Given the description of an element on the screen output the (x, y) to click on. 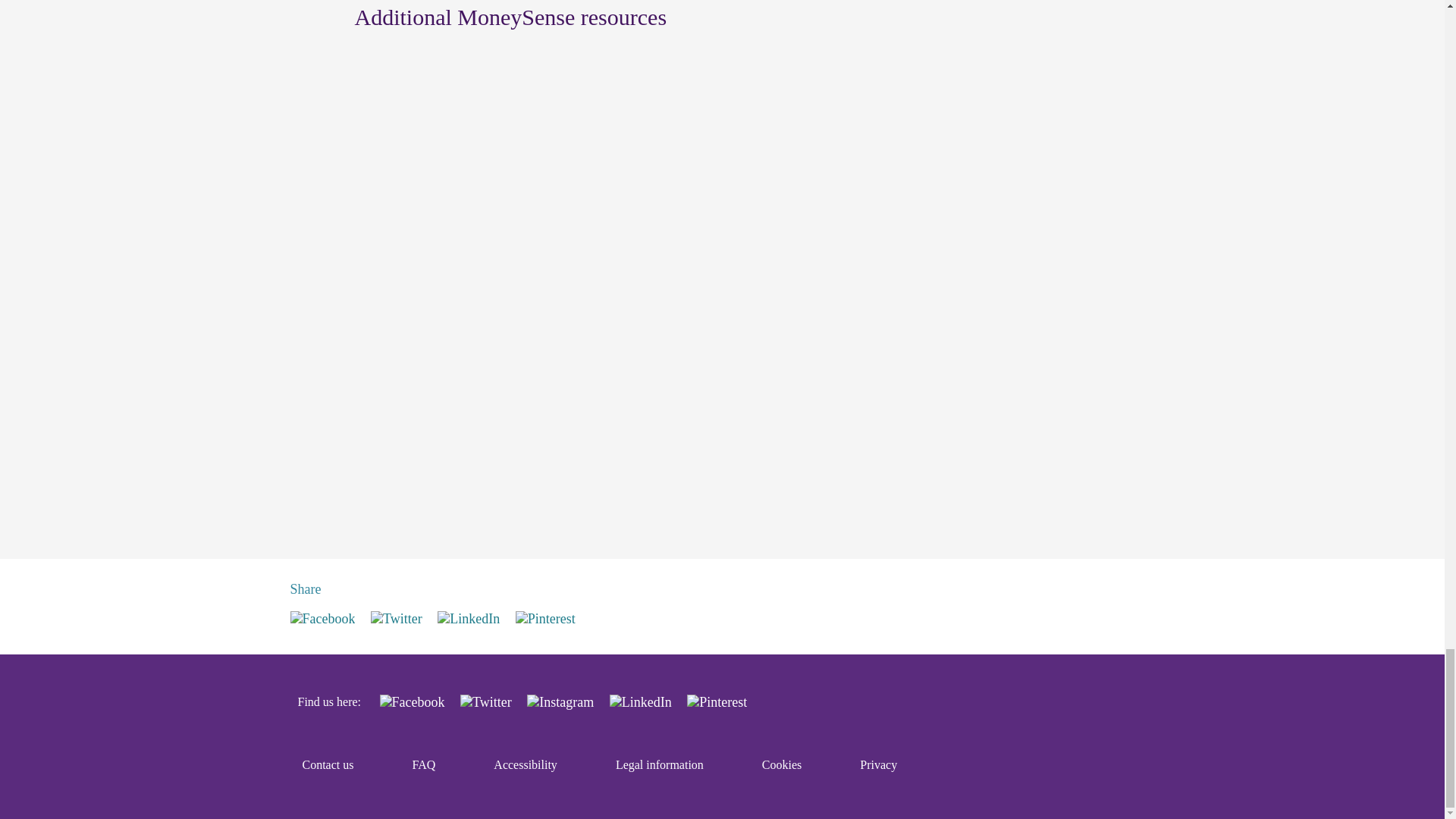
Accessibility (525, 765)
Legal information (660, 765)
Cookies (781, 765)
FAQ (424, 765)
Privacy (877, 765)
Contact us (327, 765)
